Given the description of an element on the screen output the (x, y) to click on. 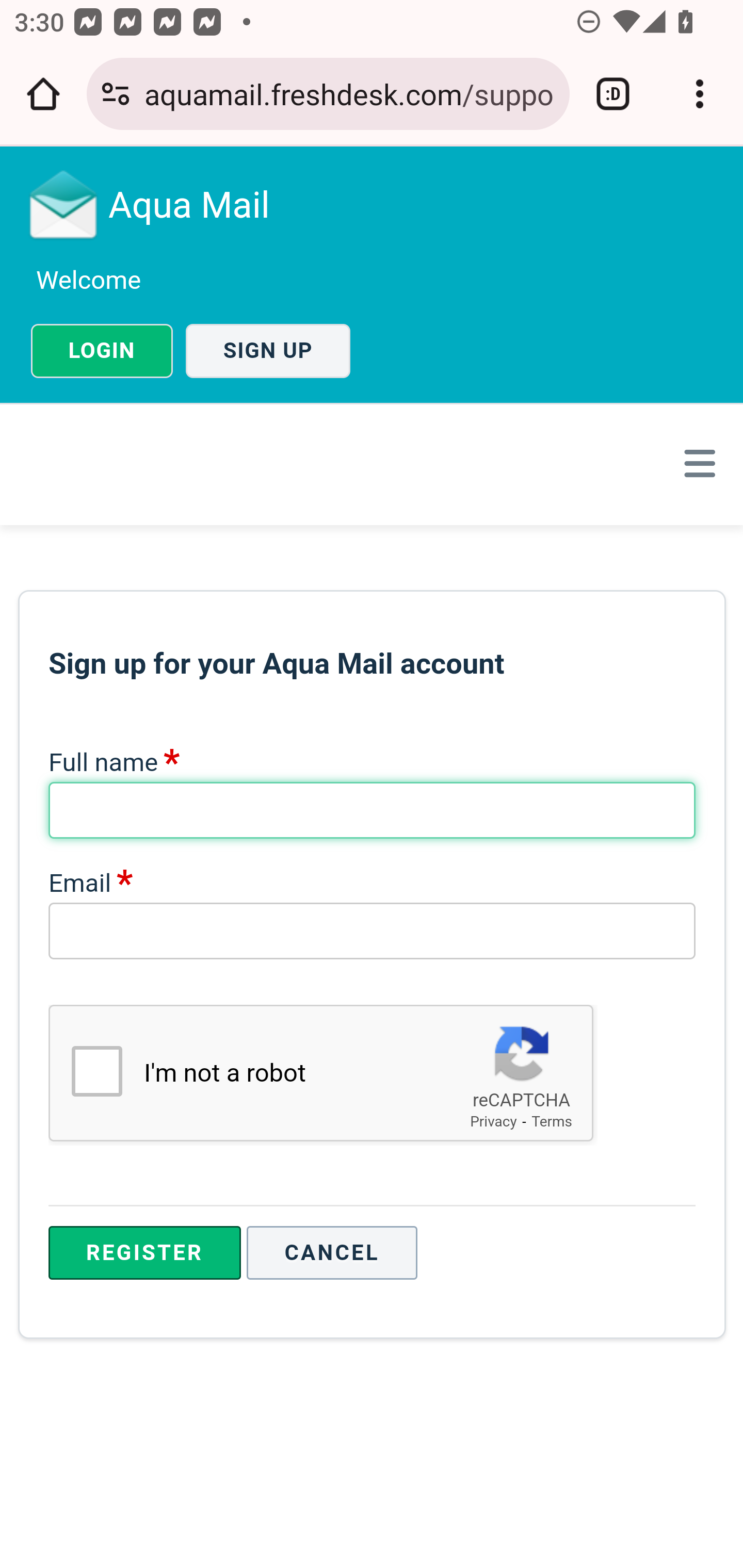
Open the home page (43, 93)
Connection is secure (115, 93)
Switch or close tabs (612, 93)
Customize and control Google Chrome (699, 93)
aquamail.freshdesk.com/support/signup (349, 92)
Logo (63, 204)
LOGIN (101, 351)
SIGN UP (268, 351)
 (695, 463)
I'm not a robot (95, 1070)
Privacy (493, 1120)
Terms (551, 1120)
Register (144, 1253)
CANCEL (332, 1253)
